Given the description of an element on the screen output the (x, y) to click on. 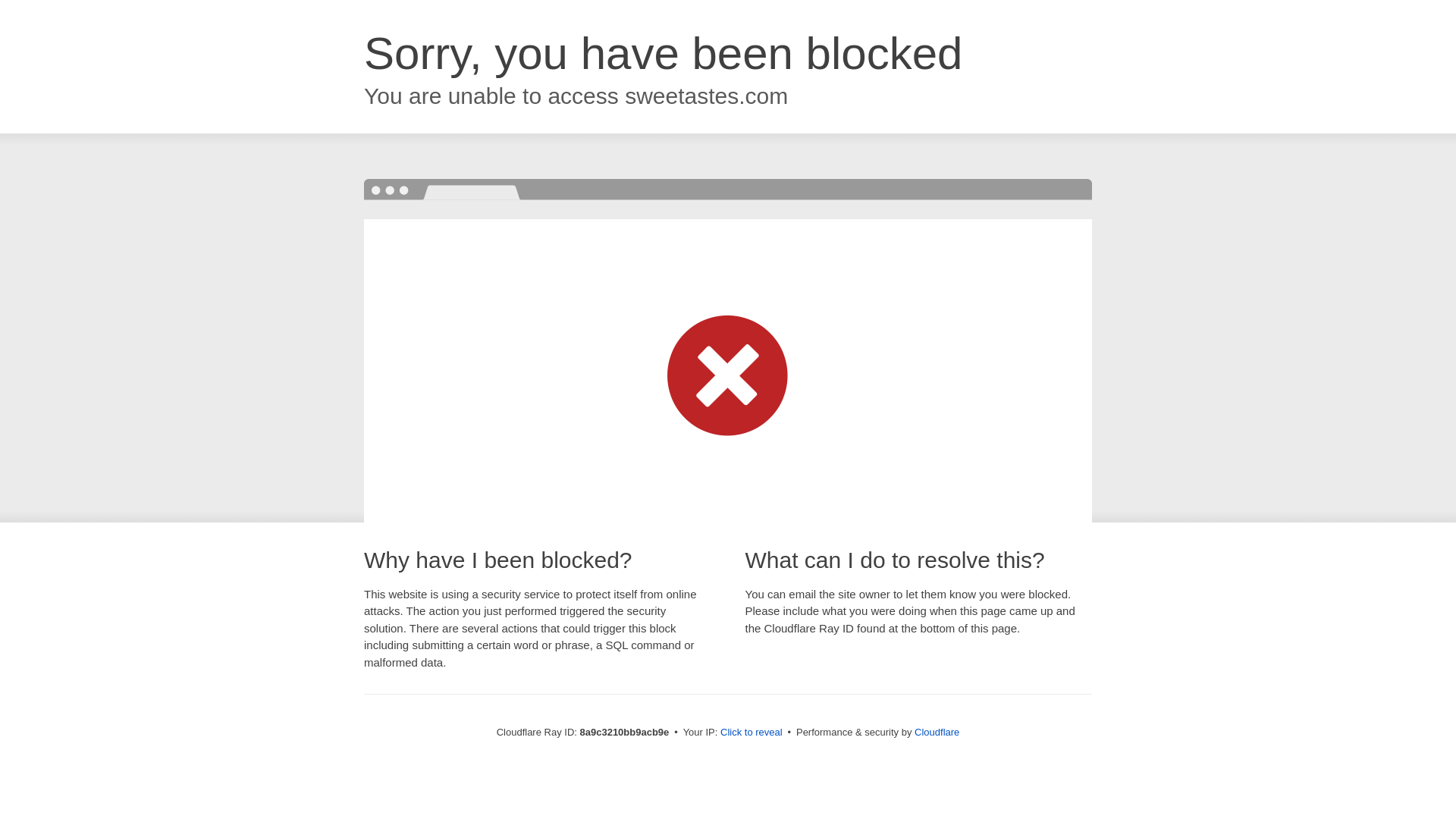
Click to reveal (751, 732)
Cloudflare (936, 731)
